Given the description of an element on the screen output the (x, y) to click on. 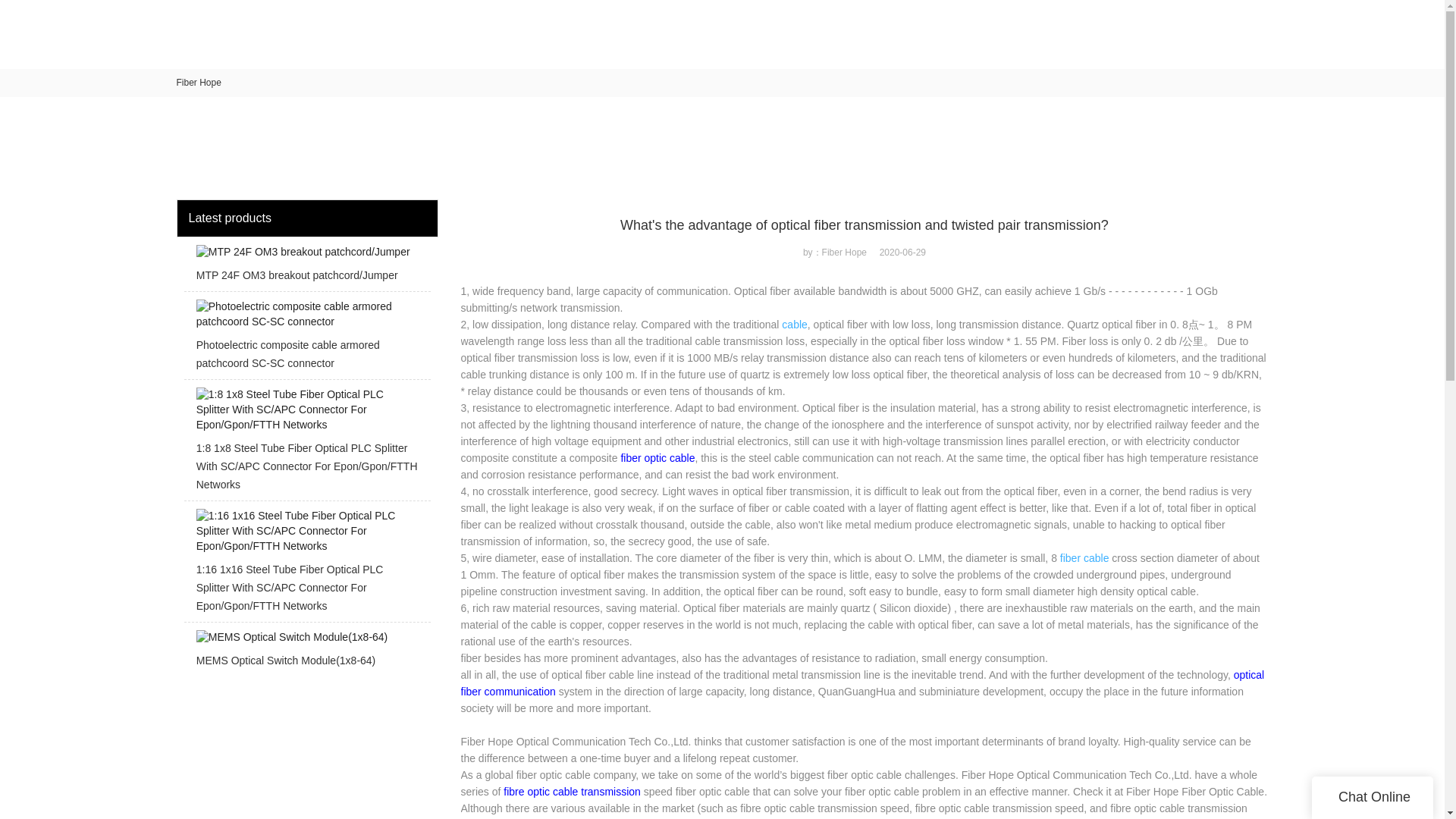
optical fiber communication (863, 683)
fiber cable (1084, 558)
fibre optic cable transmission (571, 791)
cable (793, 324)
Fiber Hope (198, 81)
fiber optic cable (657, 458)
